Given the description of an element on the screen output the (x, y) to click on. 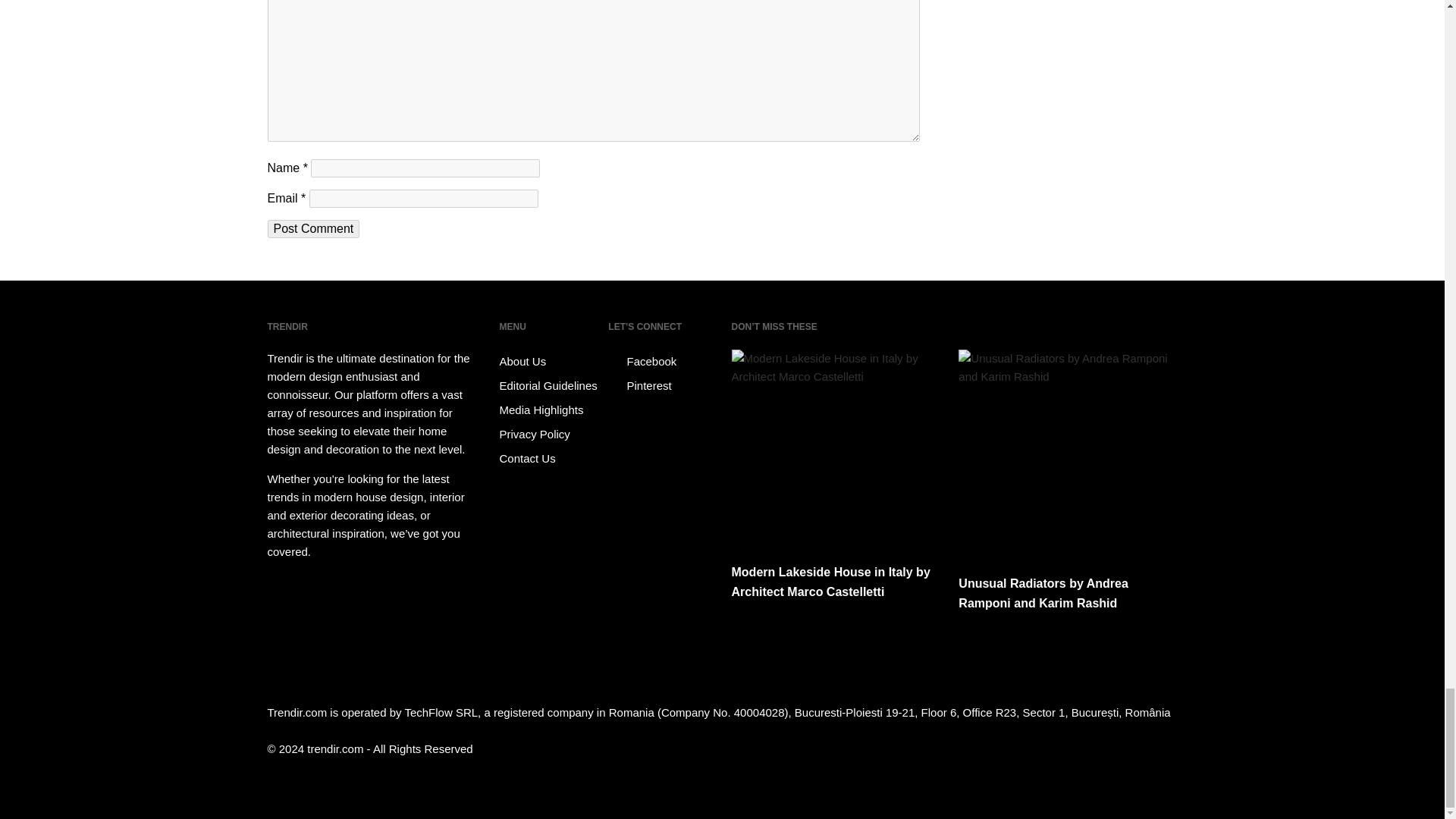
Media Highlights - Trendir (551, 410)
Privacy Policy (551, 434)
Post Comment (312, 229)
Post Comment (312, 229)
About Us (551, 361)
Media Highlights (551, 410)
Editorial Guidelines (551, 385)
About Us - Trendir (551, 361)
Trendir Editorial Guidelines (551, 385)
